Given the description of an element on the screen output the (x, y) to click on. 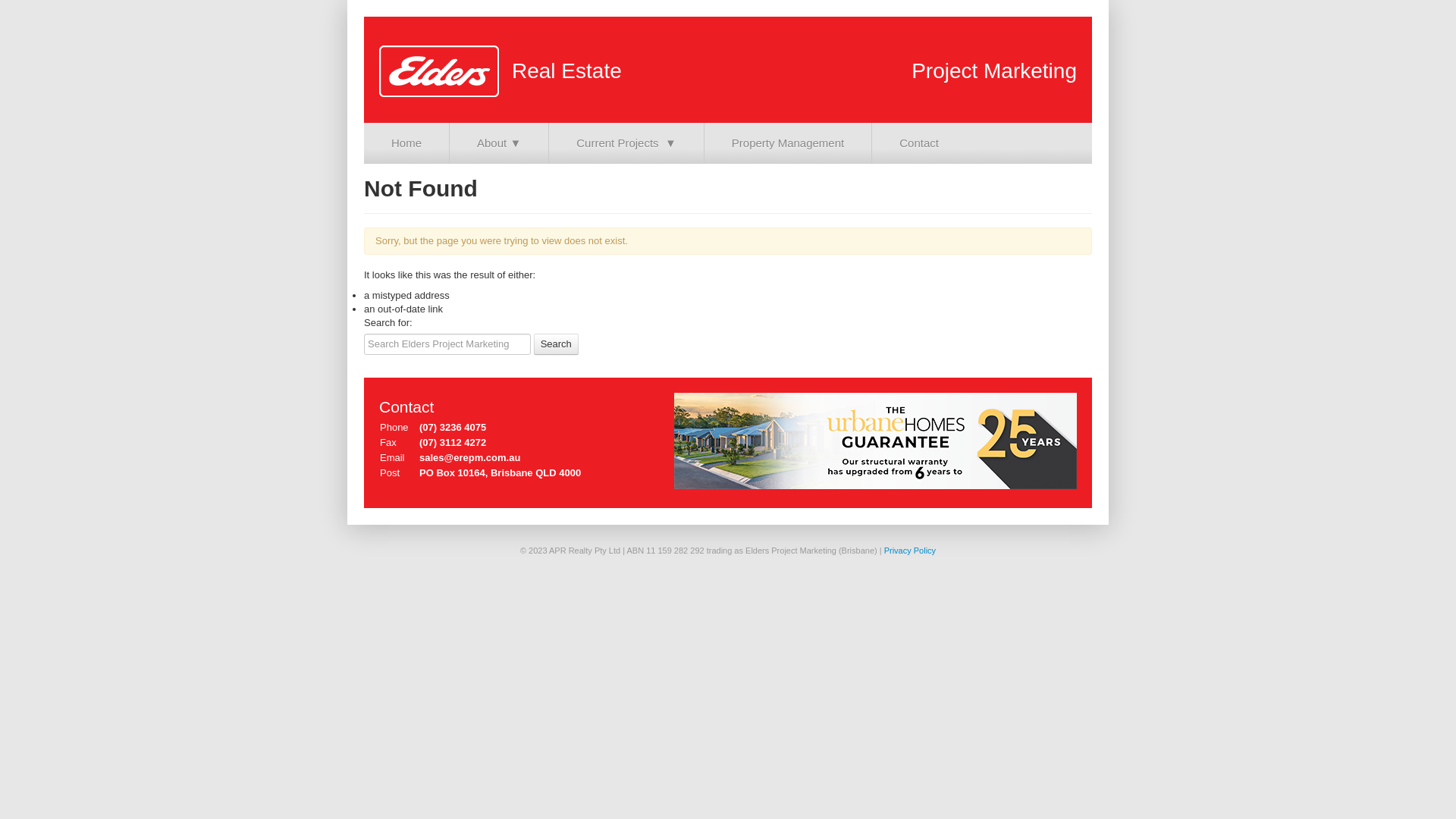
Search Element type: text (555, 343)
Privacy Policy Element type: text (909, 550)
Home Element type: text (406, 142)
Property Management Element type: text (787, 142)
sales@erepm.com.au Element type: text (469, 457)
Contact Element type: text (919, 142)
